Given the description of an element on the screen output the (x, y) to click on. 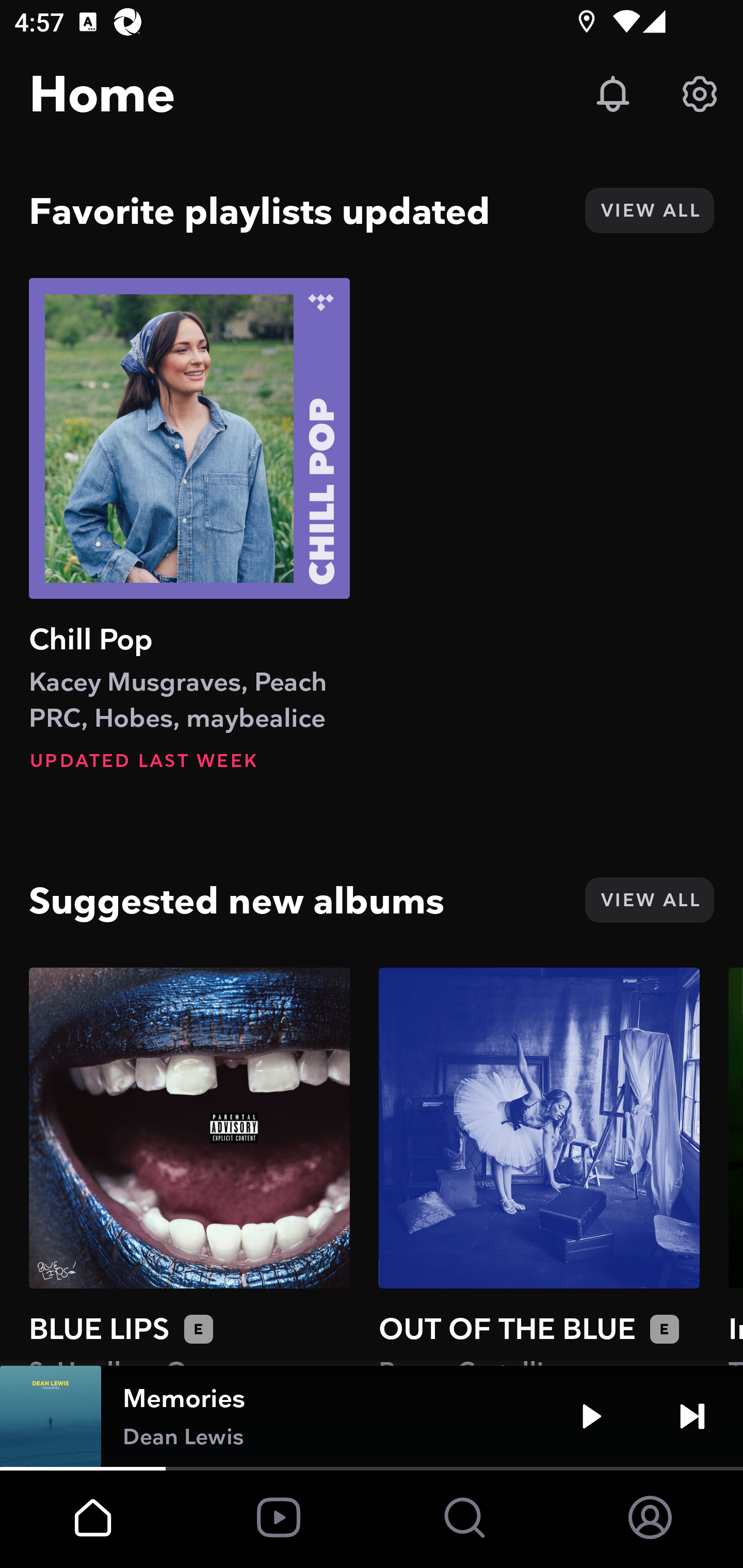
Updates (612, 93)
Settings (699, 93)
VIEW ALL (649, 210)
VIEW ALL (649, 899)
BLUE LIPS ScHoolboy Q (188, 1166)
OUT OF THE BLUE Brynn Cartelli (538, 1166)
Memories Dean Lewis Play (371, 1416)
Play (590, 1416)
